Given the description of an element on the screen output the (x, y) to click on. 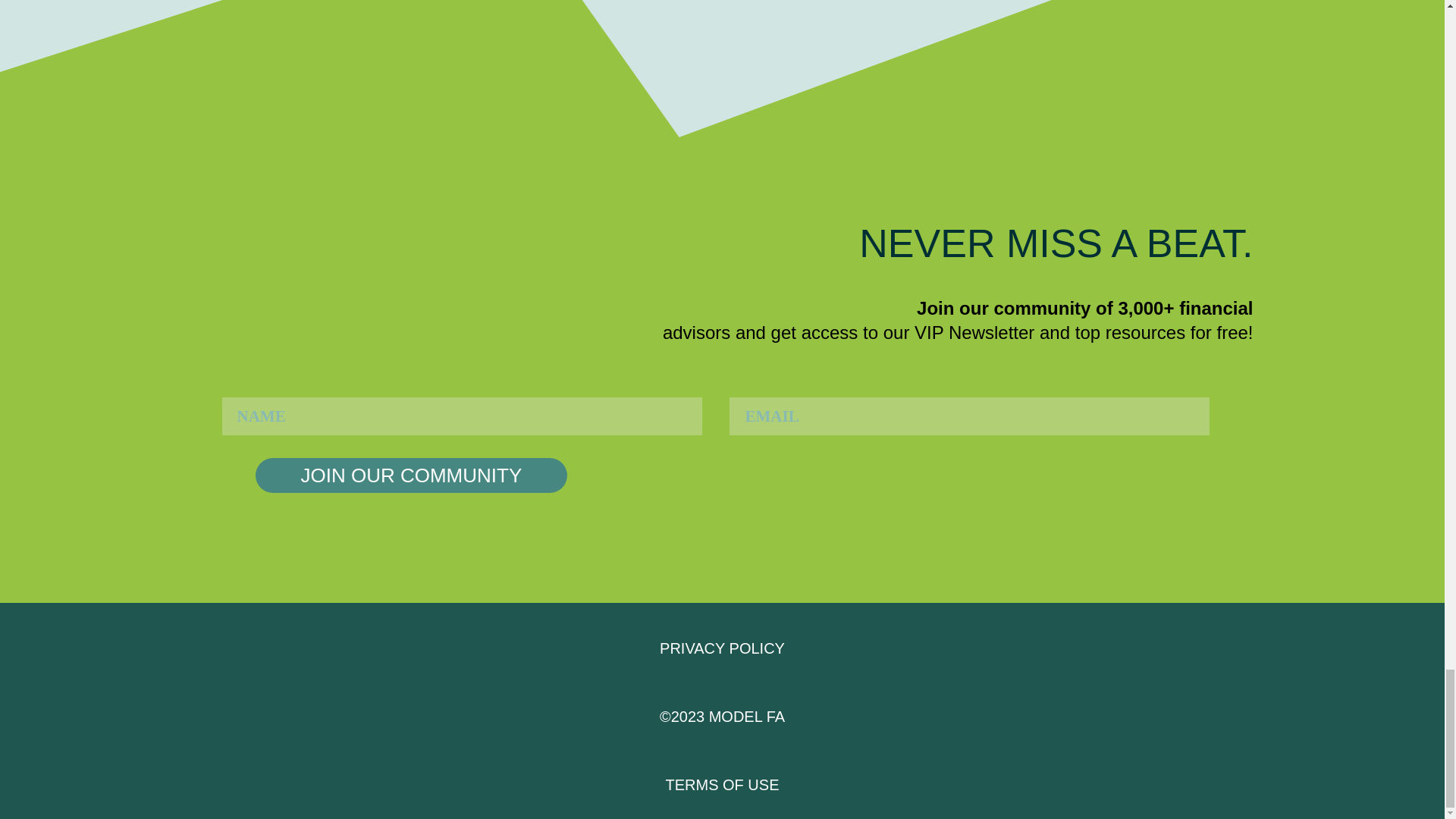
Join our community (410, 475)
